Given the description of an element on the screen output the (x, y) to click on. 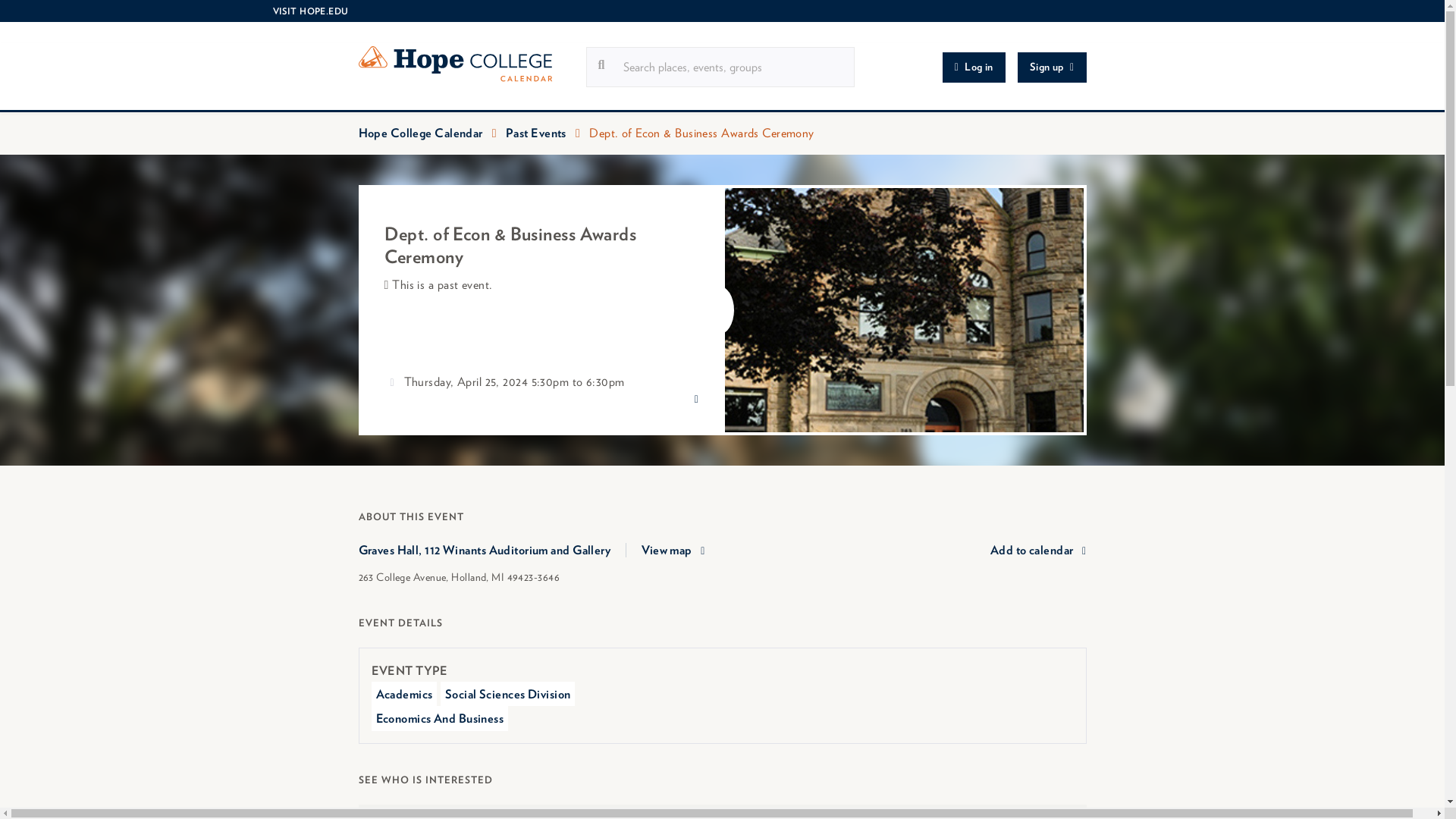
Sign up (1051, 67)
Past Events (535, 133)
Add to calendar (1038, 550)
View map (673, 550)
Log in (974, 67)
Hope College Calendar (471, 66)
Economics And Business (439, 717)
Academics (404, 693)
Graves Hall, 112 Winants Auditorium and Gallery (492, 549)
Social Sciences Division (508, 693)
VISIT HOPE.EDU (309, 11)
Hope College Calendar (419, 133)
